Given the description of an element on the screen output the (x, y) to click on. 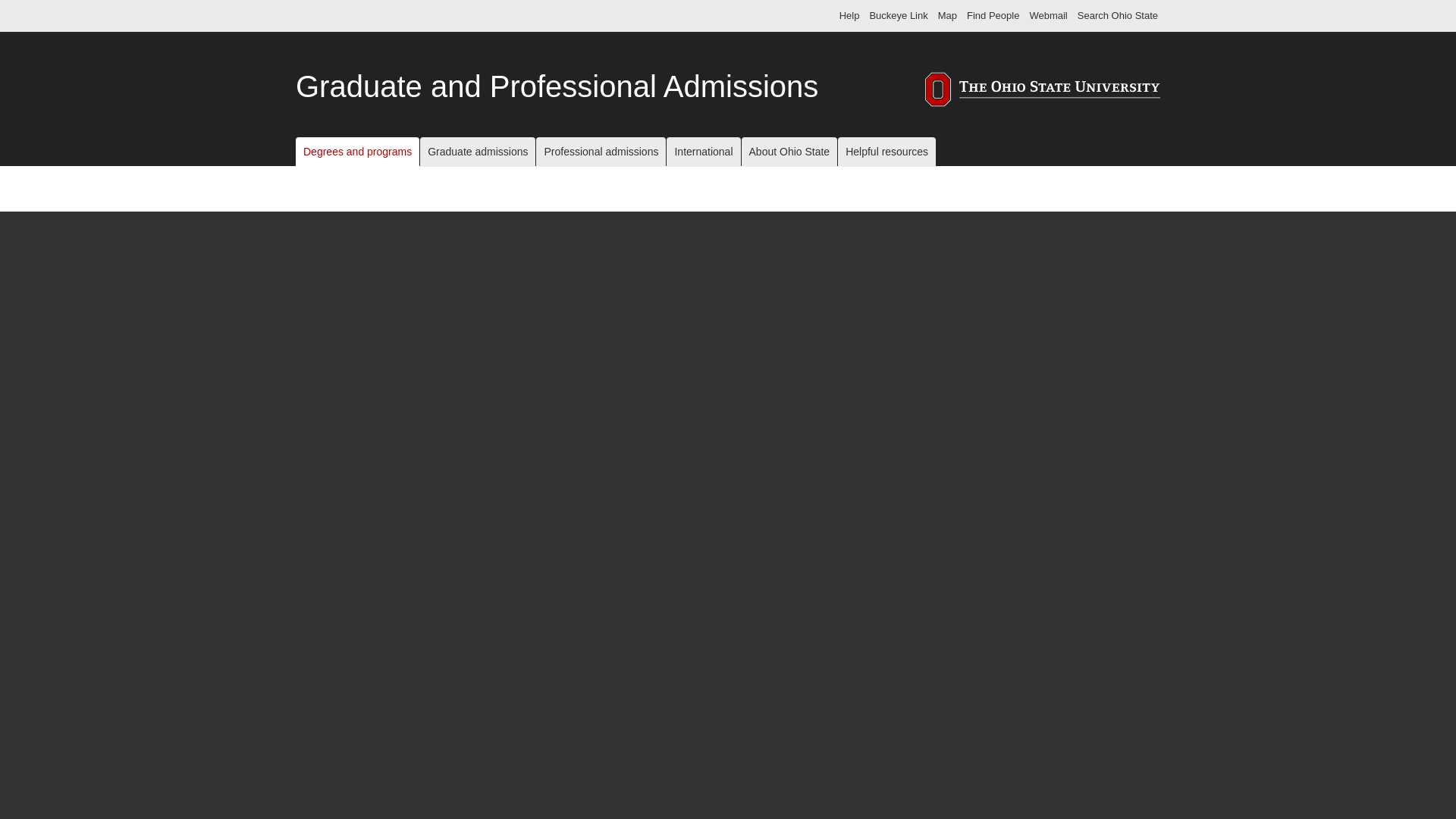
About Ohio State (789, 152)
The Ohio State University (325, 15)
Buckeye Link (898, 15)
Find People (992, 15)
Graduate and Professional Admissions (556, 86)
Helpful resources (887, 152)
Degrees and programs (357, 152)
Graduate admissions (477, 152)
International (702, 152)
Help (850, 15)
